Given the description of an element on the screen output the (x, y) to click on. 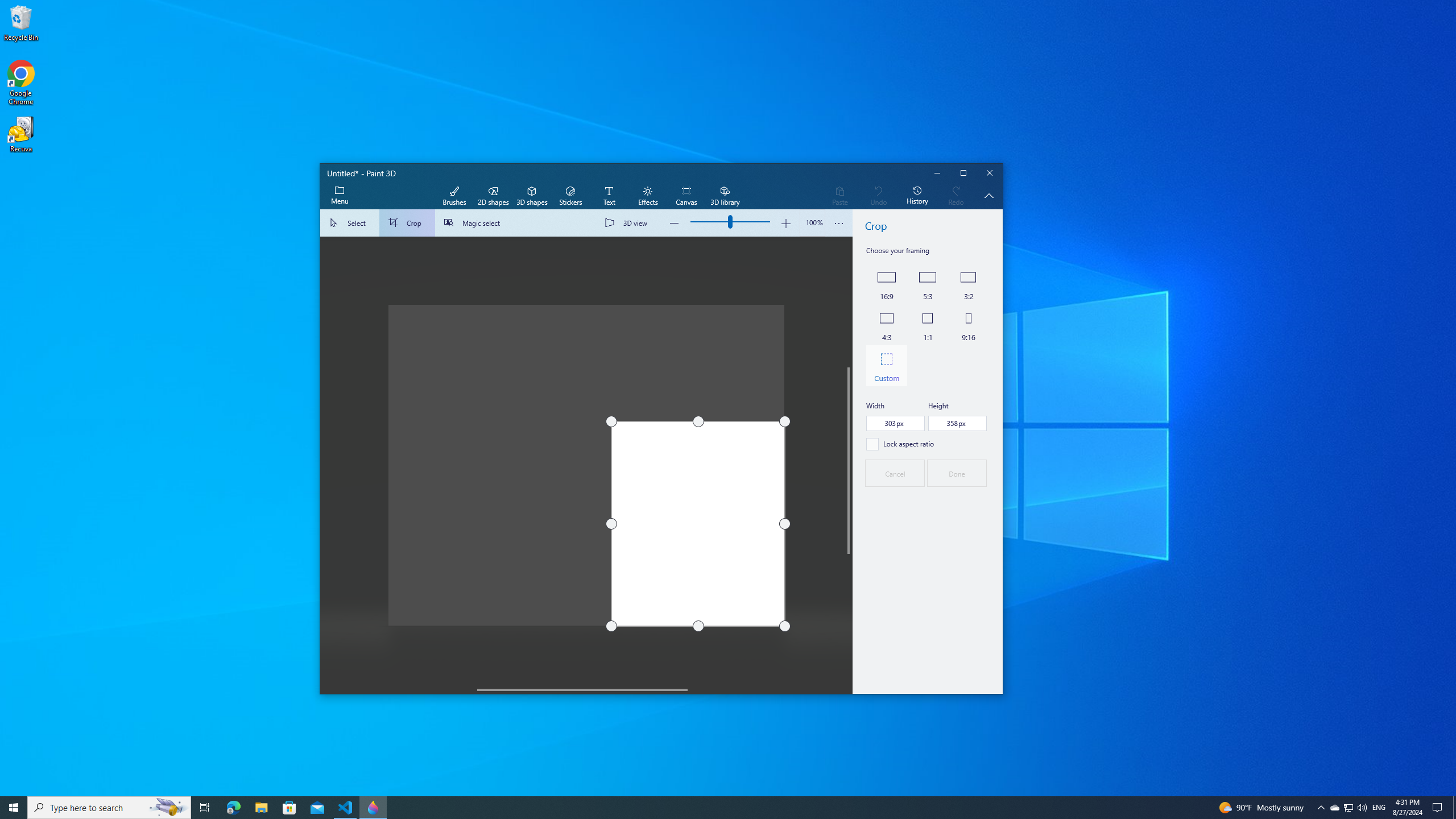
Zoom in (785, 222)
3 by 2 (967, 283)
Expand menu (339, 195)
9 by 16 (967, 324)
2D shapes (492, 195)
Zoom out (674, 222)
Select (350, 222)
Text (608, 195)
